Given the description of an element on the screen output the (x, y) to click on. 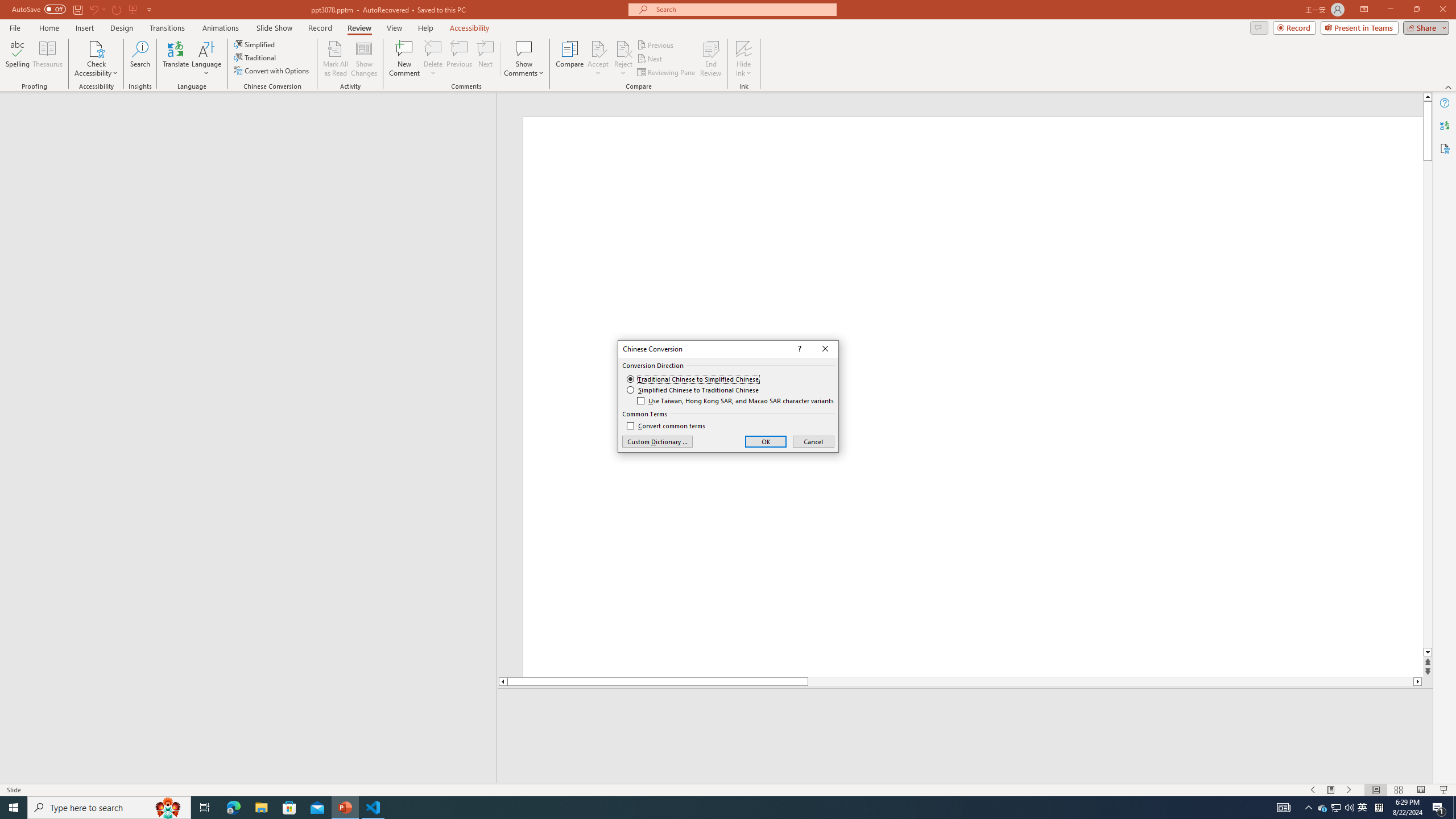
Use Taiwan, Hong Kong SAR, and Macao SAR character variants (735, 400)
Traditional (255, 56)
Slide Show Next On (1349, 790)
Accept Change (598, 48)
